Given the description of an element on the screen output the (x, y) to click on. 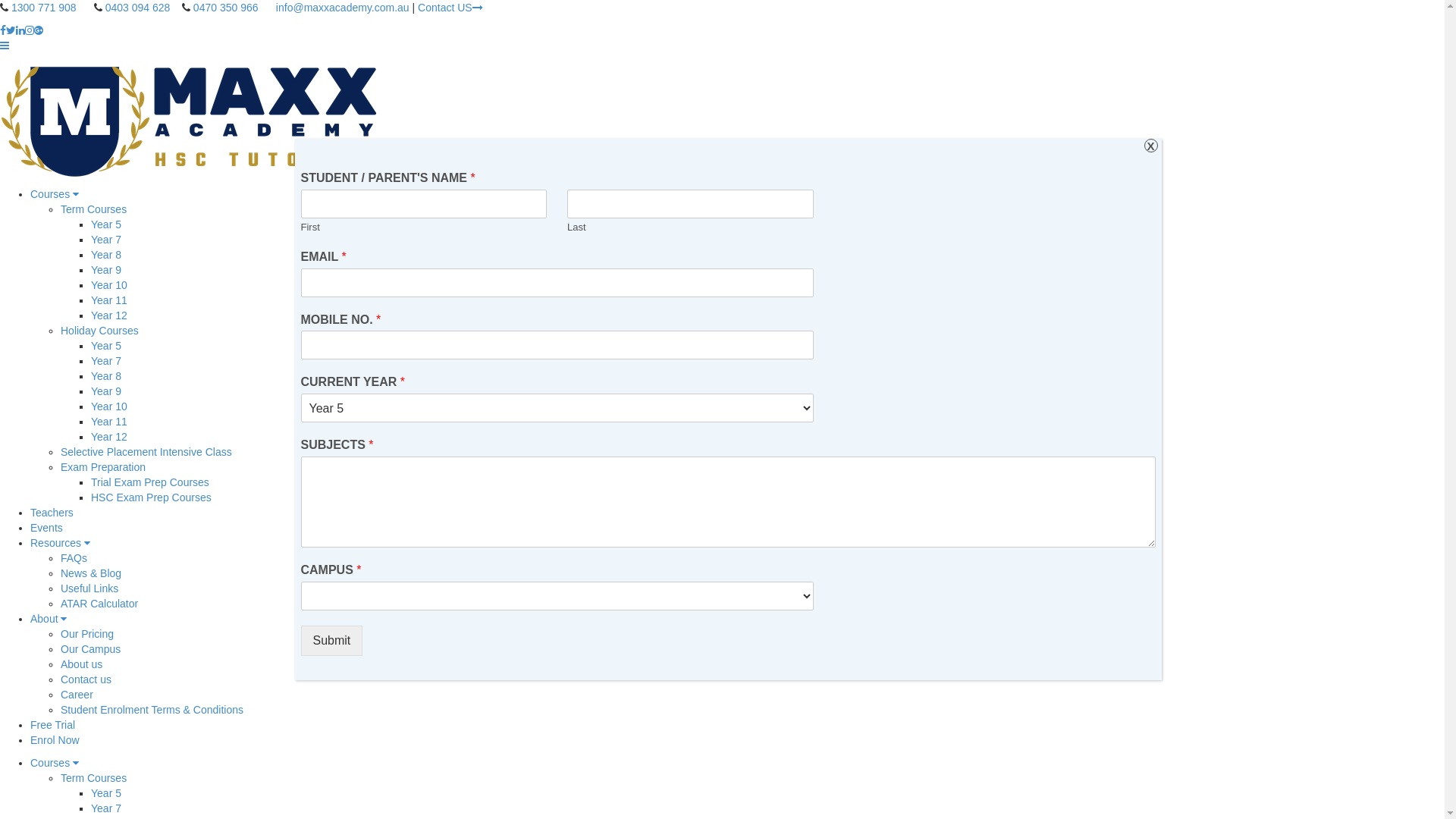
Year 9 Element type: text (106, 269)
News & Blog Element type: text (90, 573)
Year 7 Element type: text (106, 239)
Courses Element type: text (54, 194)
Teachers Element type: text (51, 512)
Year 12 Element type: text (109, 315)
Resources  Element type: text (60, 542)
Submit Element type: text (331, 640)
Year 5 Element type: text (106, 224)
Year 8 Element type: text (106, 376)
Trial Exam Prep Courses Element type: text (150, 482)
Student Enrolment Terms & Conditions Element type: text (151, 709)
Year 7 Element type: text (106, 808)
Year 12 Element type: text (109, 436)
Year 9 Element type: text (106, 391)
Year 10 Element type: text (109, 285)
Year 8 Element type: text (106, 254)
Holiday Courses Element type: text (99, 330)
ATAR Calculator Element type: text (99, 603)
Year 5 Element type: text (106, 793)
About  Element type: text (48, 618)
Year 5 Element type: text (106, 345)
1300 771 908 Element type: text (43, 7)
Exam Preparation Element type: text (102, 467)
Selective Placement Intensive Class Element type: text (146, 451)
Career Element type: text (76, 694)
Term Courses Element type: text (93, 777)
0470 350 966 Element type: text (225, 7)
X Element type: text (1150, 145)
Term Courses Element type: text (93, 209)
Year 7 Element type: text (106, 360)
Free Trial Element type: text (52, 724)
About us Element type: text (81, 664)
HSC Exam Prep Courses Element type: text (151, 497)
Year 10 Element type: text (109, 406)
Our Pricing Element type: text (86, 633)
Events Element type: text (46, 527)
Contact US Element type: text (450, 7)
0403 094 628 Element type: text (137, 7)
Year 11 Element type: text (109, 300)
Enrol Now Element type: text (54, 740)
FAQs Element type: text (73, 558)
Useful Links Element type: text (89, 588)
Contact us Element type: text (85, 679)
Courses Element type: text (54, 762)
Year 11 Element type: text (109, 421)
Our Campus Element type: text (90, 649)
info@maxxacademy.com.au Element type: text (342, 7)
